Given the description of an element on the screen output the (x, y) to click on. 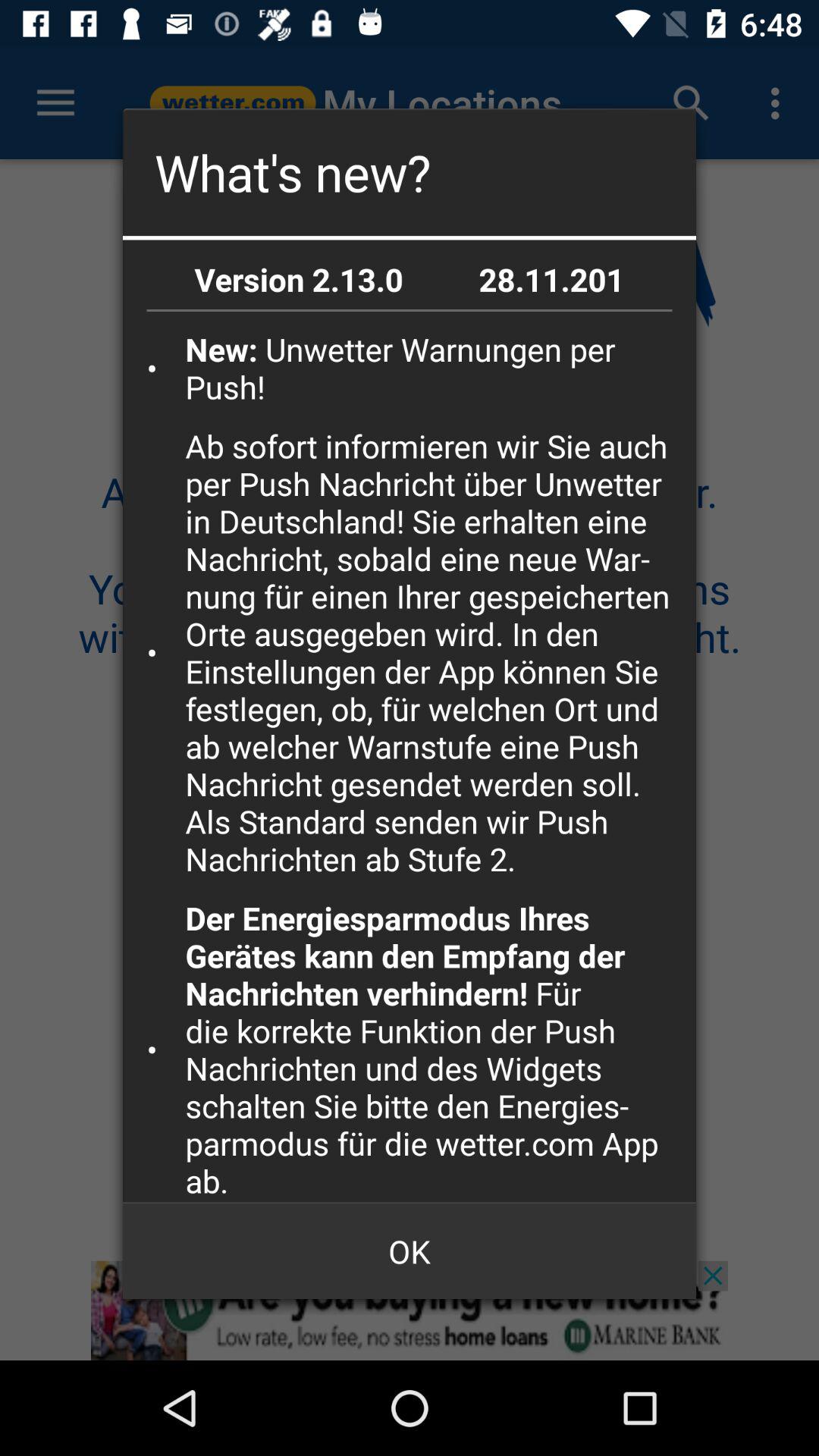
turn off item above the ok (435, 1049)
